Given the description of an element on the screen output the (x, y) to click on. 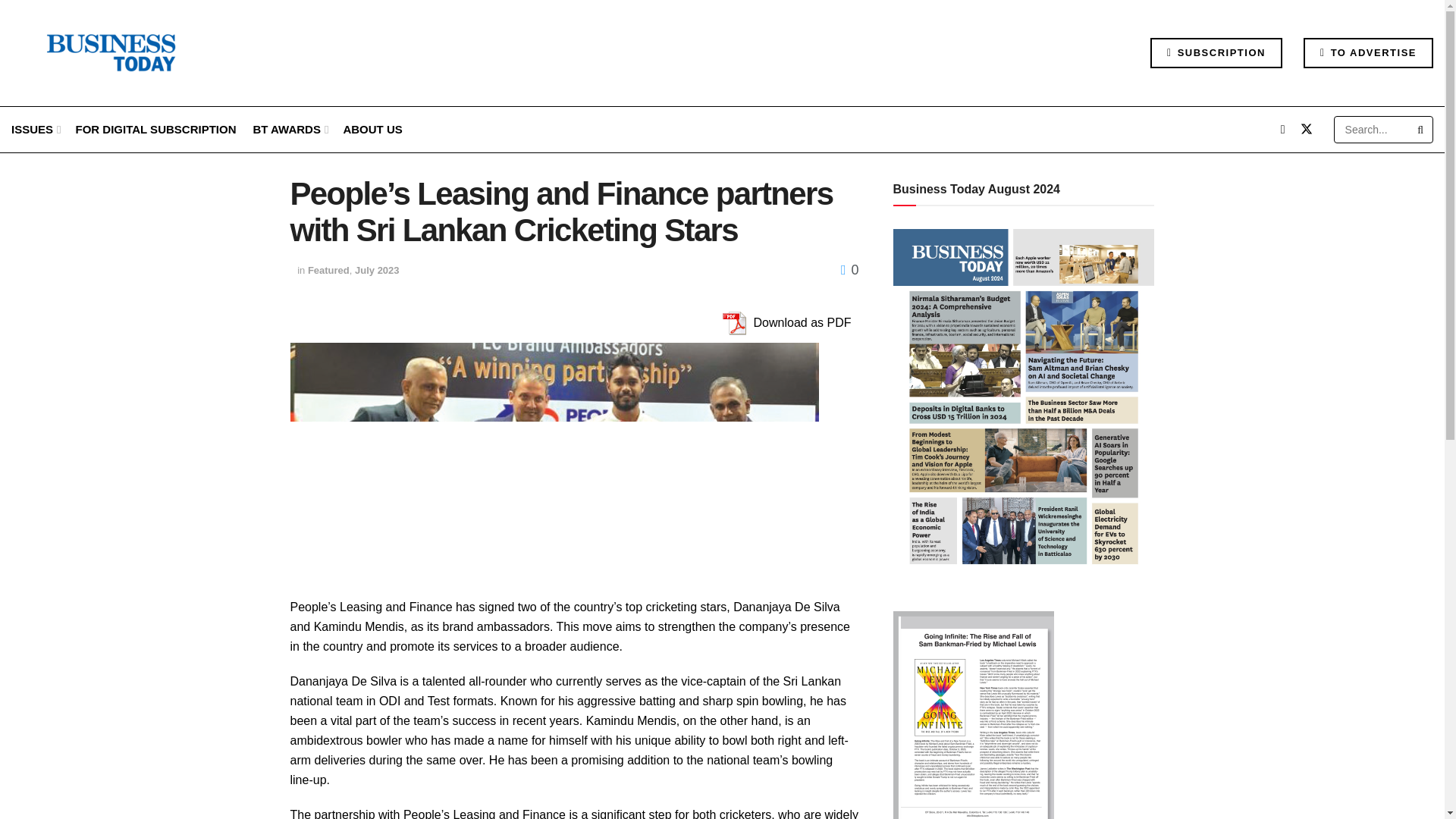
TO ADVERTISE (1367, 52)
ISSUES (35, 129)
Download PDF (733, 323)
SUBSCRIPTION (1216, 52)
